Given the description of an element on the screen output the (x, y) to click on. 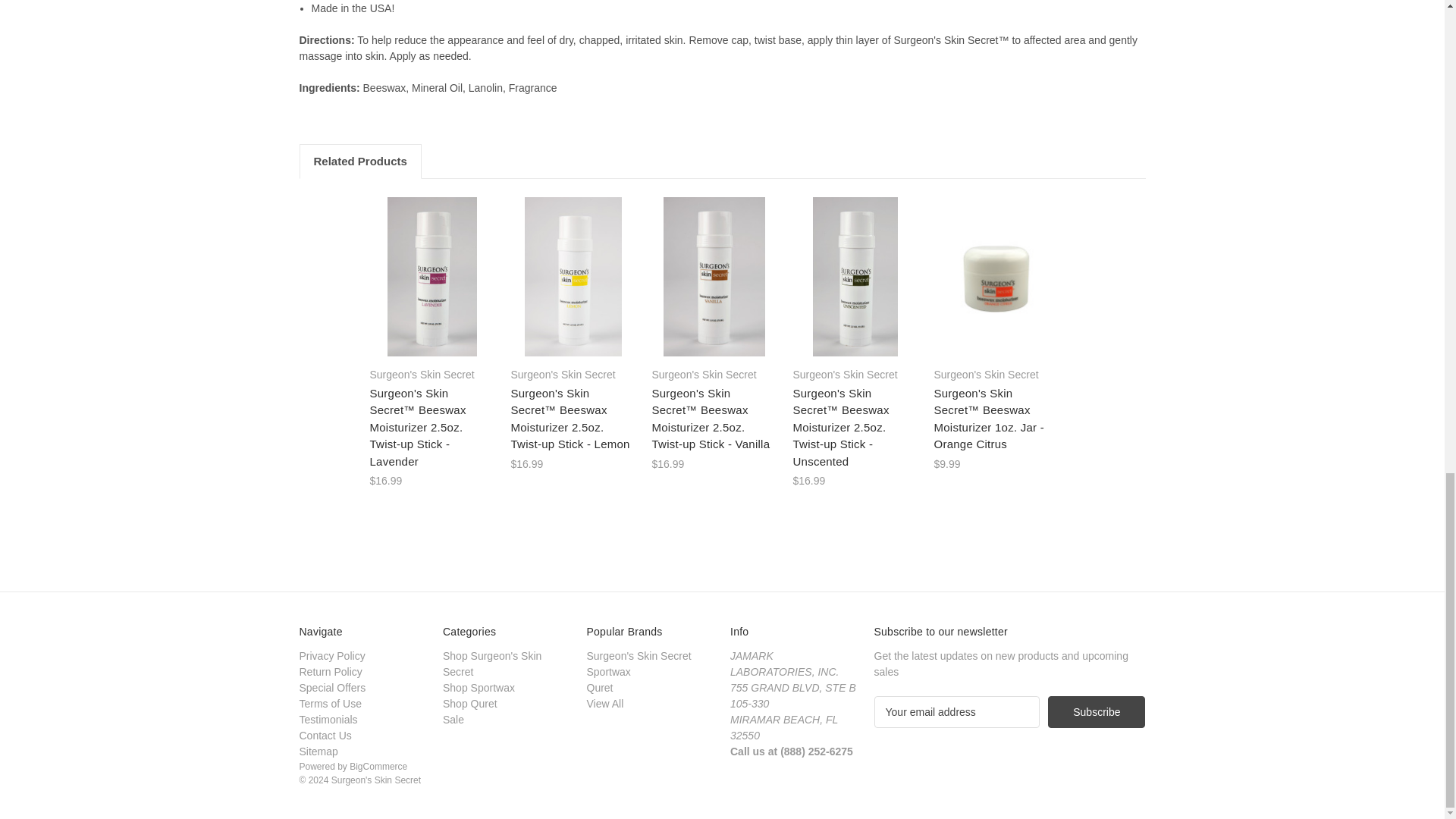
Subscribe (1096, 712)
